Given the description of an element on the screen output the (x, y) to click on. 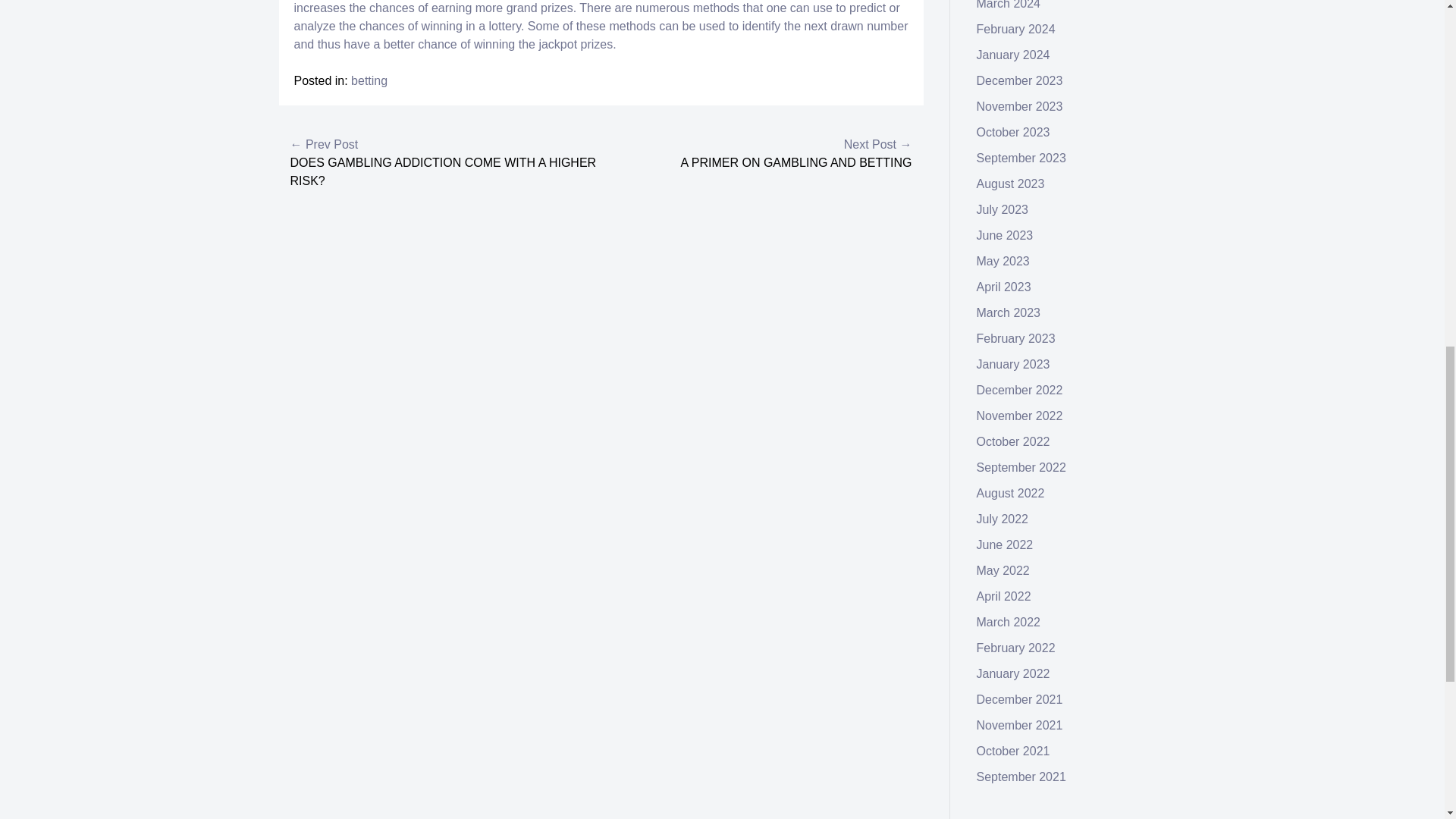
January 2023 (1012, 364)
April 2023 (1003, 286)
May 2023 (1002, 260)
July 2023 (1002, 209)
August 2023 (1010, 183)
betting (368, 80)
October 2023 (1012, 132)
January 2024 (1012, 54)
November 2023 (1019, 106)
September 2023 (1020, 157)
